Given the description of an element on the screen output the (x, y) to click on. 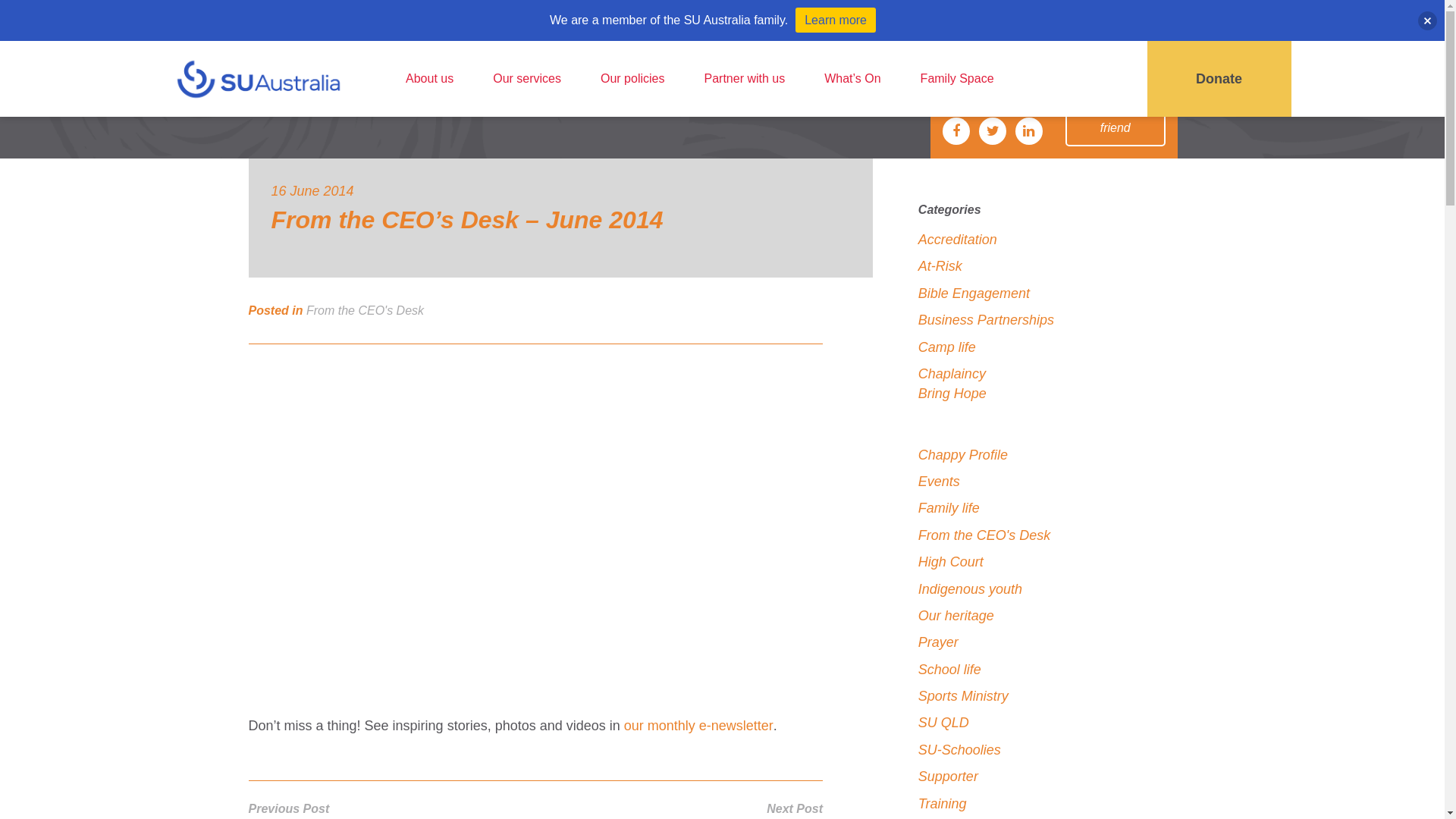
Our policies Element type: text (632, 78)
Accreditation Element type: text (957, 239)
Bible Engagement Element type: text (973, 293)
Sports Ministry Element type: text (963, 696)
SU-Schoolies Element type: text (959, 749)
our monthly e-newsletter Element type: text (698, 725)
At-Risk Element type: text (940, 266)
Business Partnerships Element type: text (986, 319)
Supporter Element type: text (948, 776)
About us Element type: text (429, 78)
Family life Element type: text (948, 507)
Events Element type: text (939, 481)
Next Post Element type: text (794, 809)
Chappy Profile Element type: text (962, 454)
Camp life Element type: text (946, 346)
Donate Element type: text (1218, 78)
Bring Hope Element type: text (952, 393)
Our heritage Element type: text (956, 615)
Email to a friend Element type: text (1115, 118)
Indigenous youth Element type: text (970, 589)
From the CEO's Desk Element type: text (984, 535)
SU QLD Element type: text (943, 722)
Family Space Element type: text (956, 78)
From the CEO's Desk Element type: text (364, 310)
School life Element type: text (949, 669)
Partner with us Element type: text (744, 78)
Learn more Element type: text (835, 19)
Chaplaincy Element type: text (951, 373)
Previous Post Element type: text (288, 808)
Our services Element type: text (526, 78)
High Court Element type: text (950, 561)
Prayer Element type: text (938, 642)
Training Element type: text (942, 802)
